Given the description of an element on the screen output the (x, y) to click on. 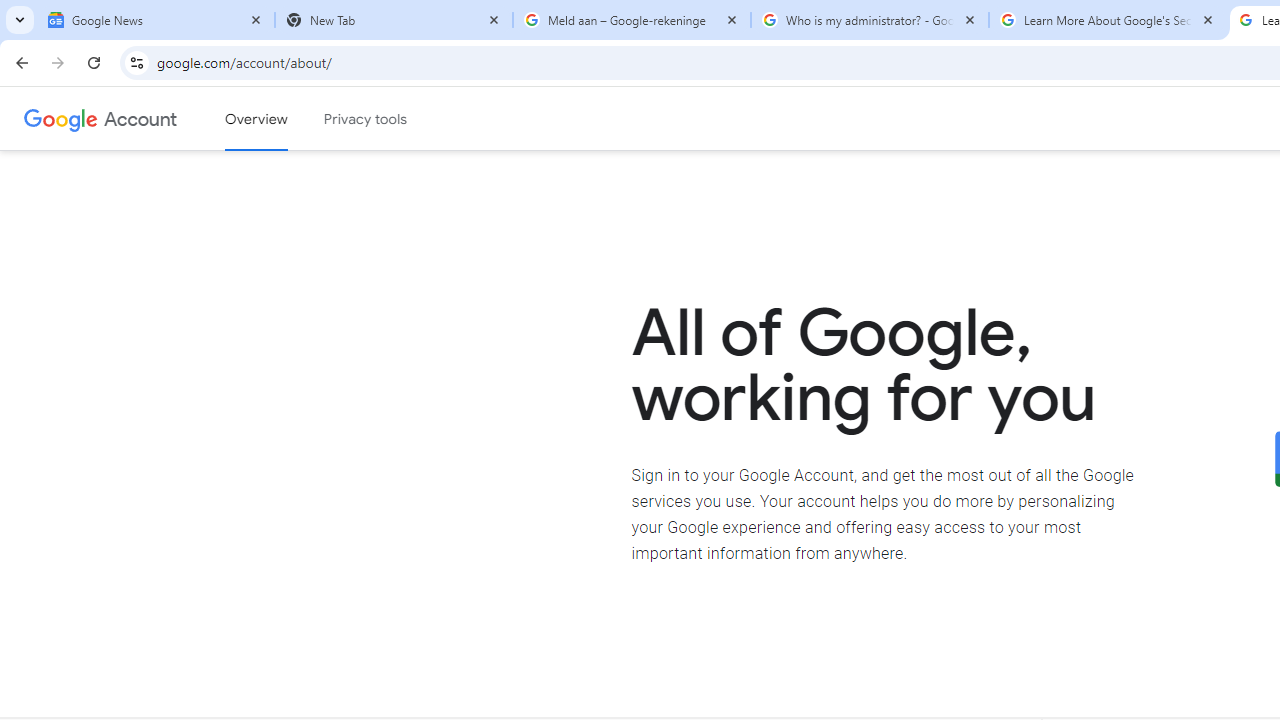
Skip to Content (285, 115)
